Given the description of an element on the screen output the (x, y) to click on. 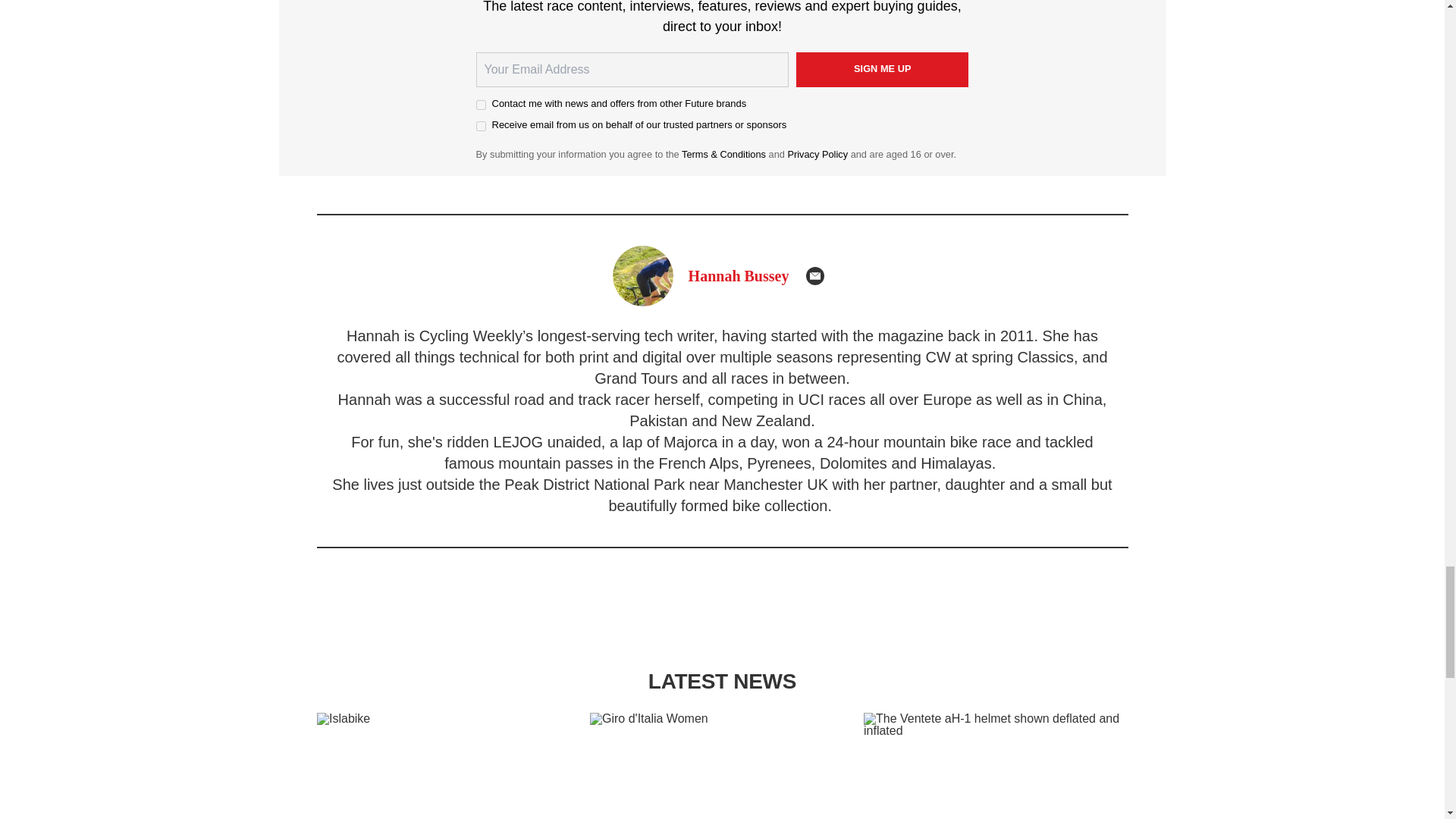
on (481, 104)
on (481, 126)
Sign me up (882, 69)
